Given the description of an element on the screen output the (x, y) to click on. 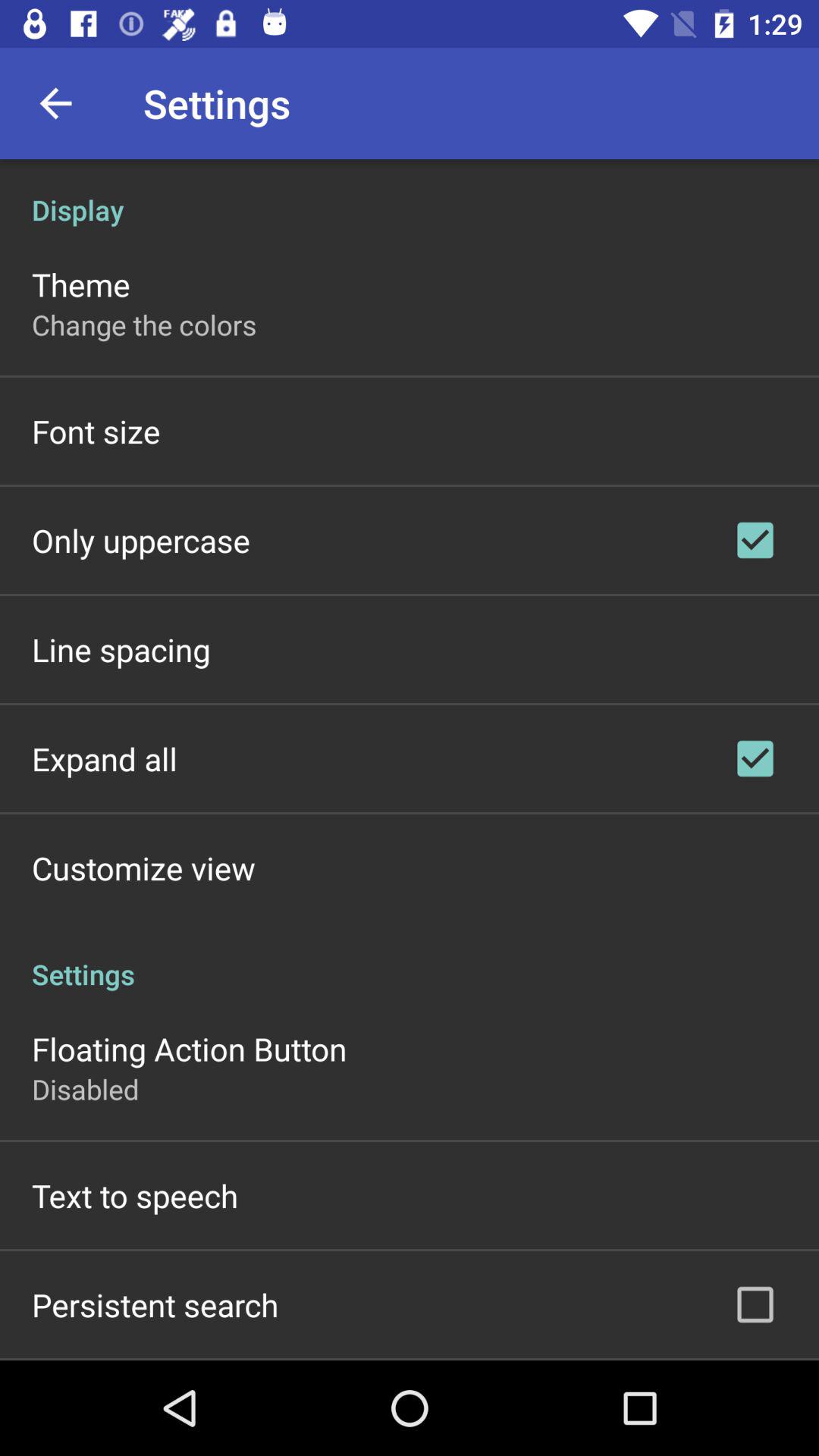
click the persistent search (154, 1304)
